Given the description of an element on the screen output the (x, y) to click on. 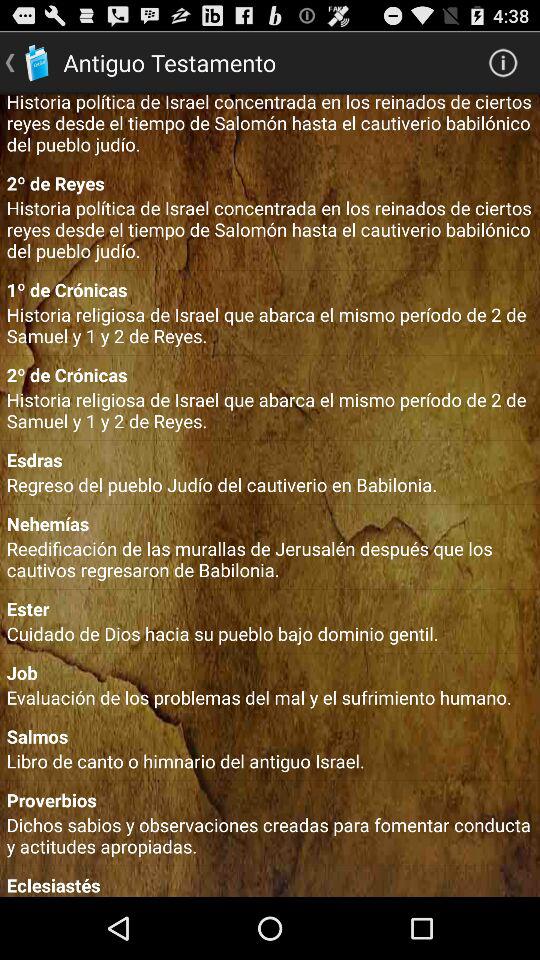
launch the job (269, 672)
